Given the description of an element on the screen output the (x, y) to click on. 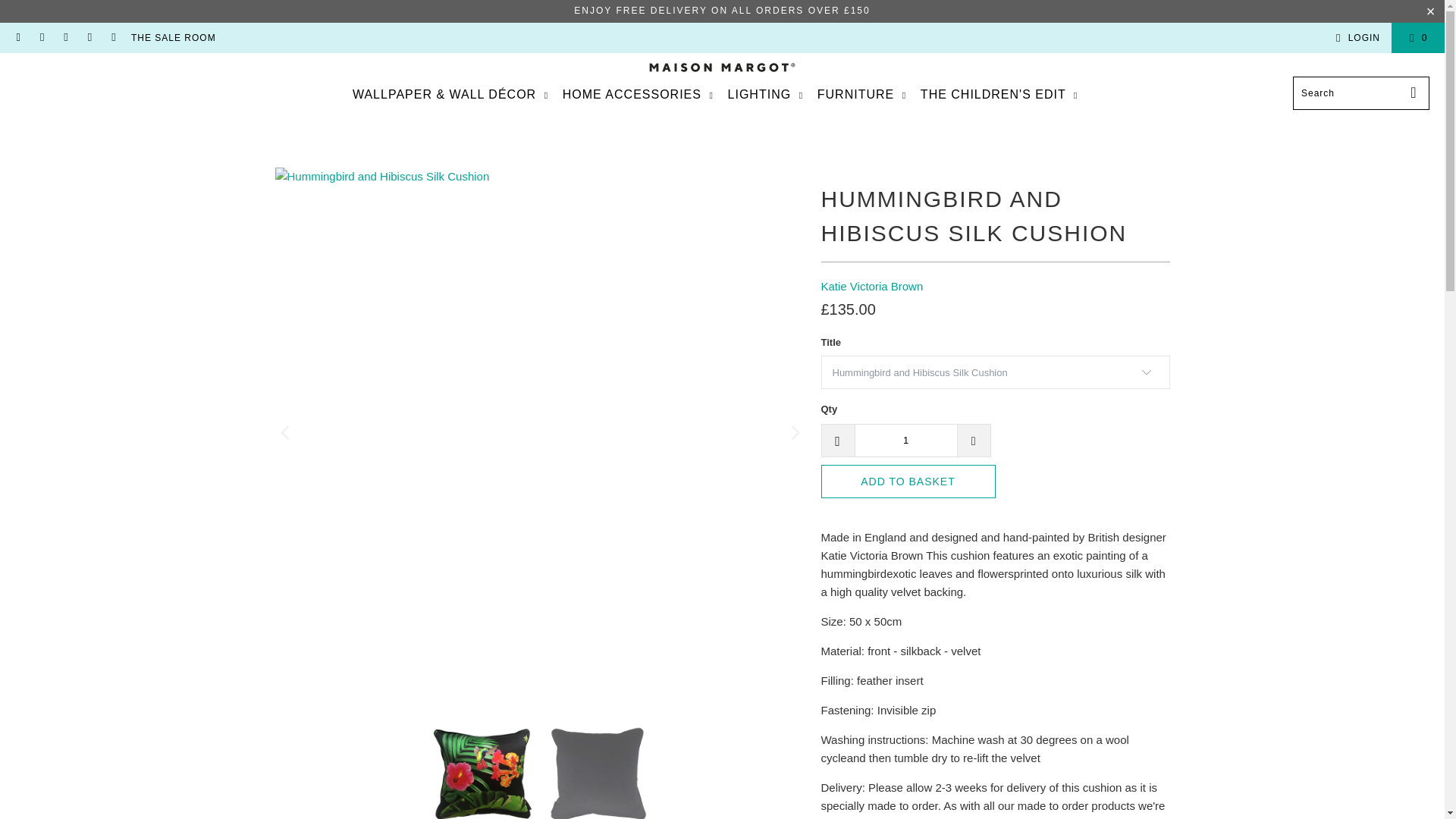
1 (904, 439)
Maison Margot (722, 68)
Maison Margot on Twitter (112, 37)
Maison Margot on Instagram (65, 37)
Maison Margot on Facebook (41, 37)
My Account  (1355, 37)
Email Maison Margot (17, 37)
Maison Margot on Pinterest (89, 37)
